Given the description of an element on the screen output the (x, y) to click on. 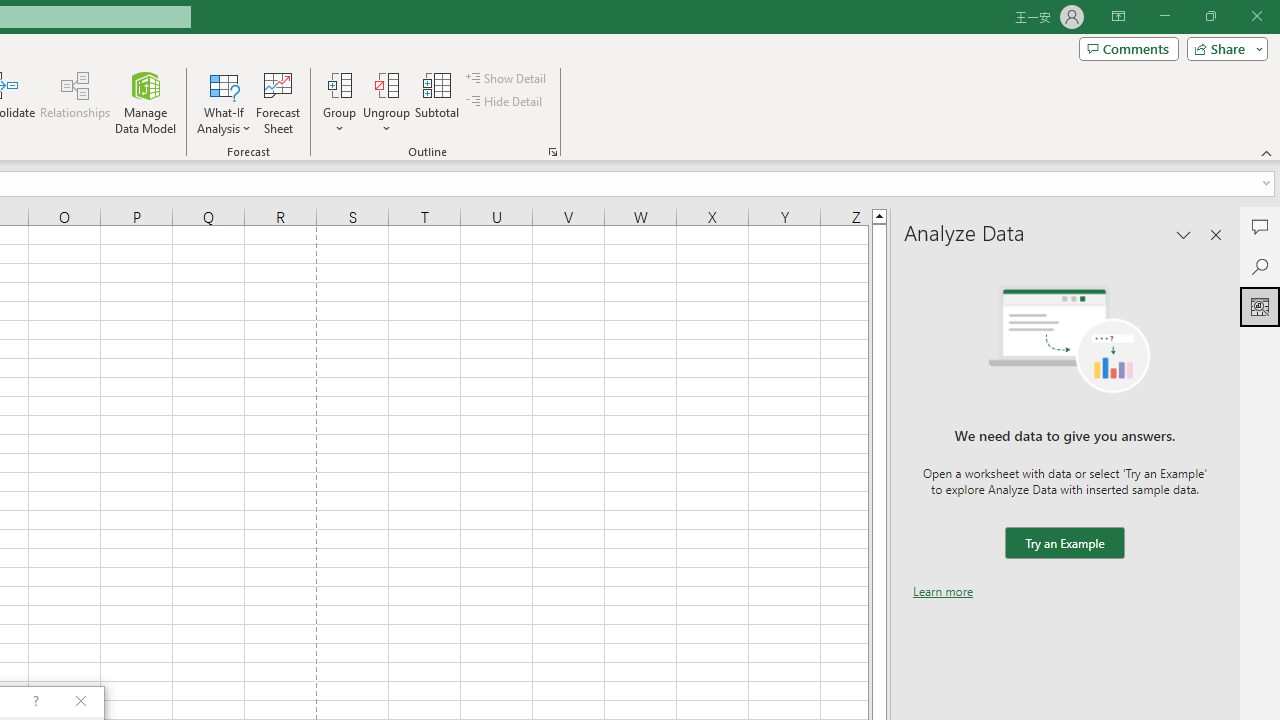
Show Detail (507, 78)
Manage Data Model (145, 102)
Forecast Sheet (278, 102)
